Given the description of an element on the screen output the (x, y) to click on. 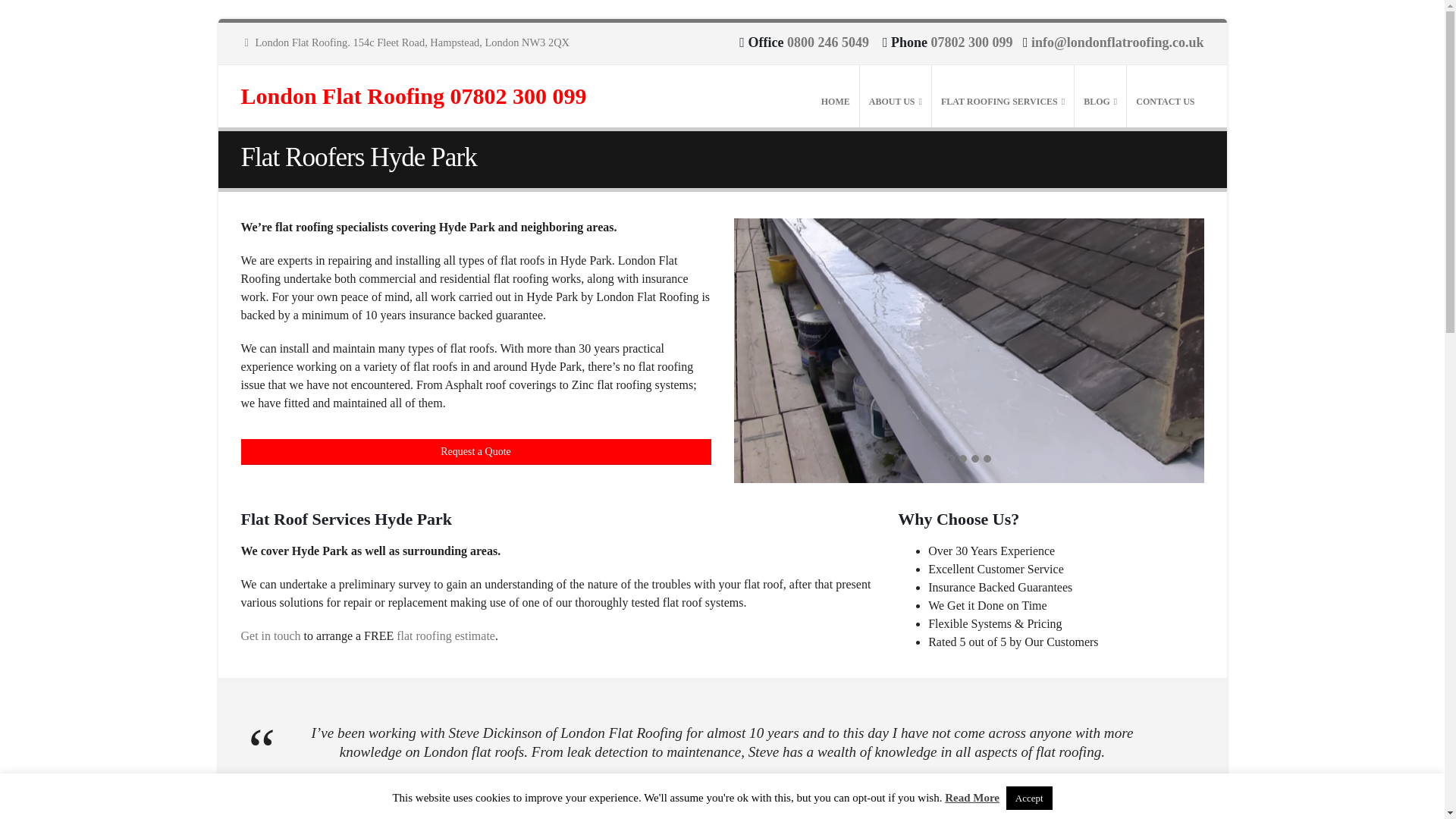
London Flat Roofing 07802 300 099 (413, 95)
0800 246 5049 (828, 42)
ABOUT US (895, 96)
FLAT ROOFING SERVICES (1002, 96)
London Flat Roofing - Flat Roofing Services London (413, 95)
07802 300 099 (970, 42)
